Given the description of an element on the screen output the (x, y) to click on. 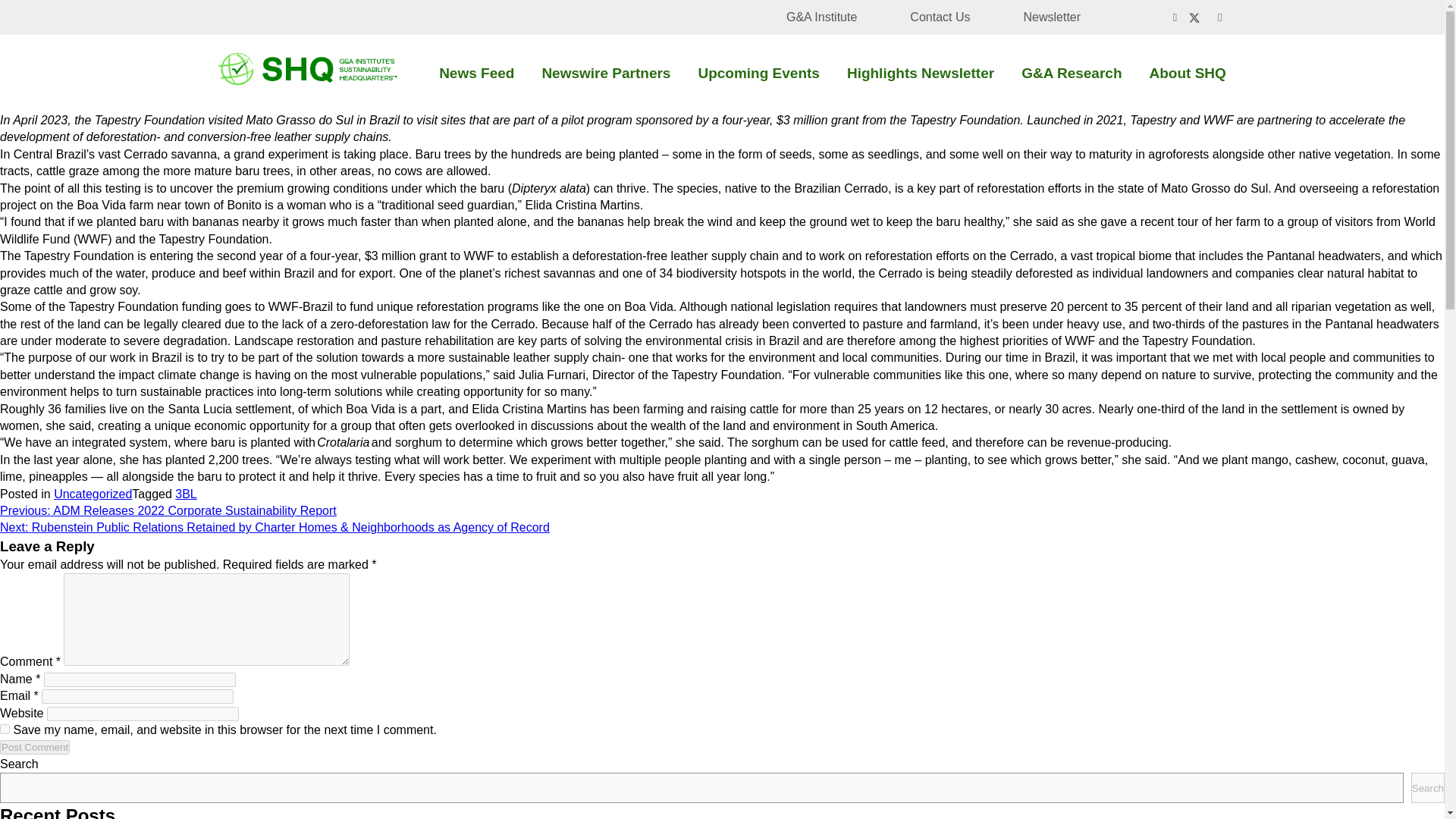
Uncategorized (92, 493)
Highlights Newsletter (920, 73)
Contact Us (939, 17)
Upcoming Events (757, 73)
Post Comment (34, 747)
Post Comment (34, 747)
3BL (185, 493)
yes (5, 728)
News Feed (476, 73)
Previous: ADM Releases 2022 Corporate Sustainability Report (168, 510)
